Given the description of an element on the screen output the (x, y) to click on. 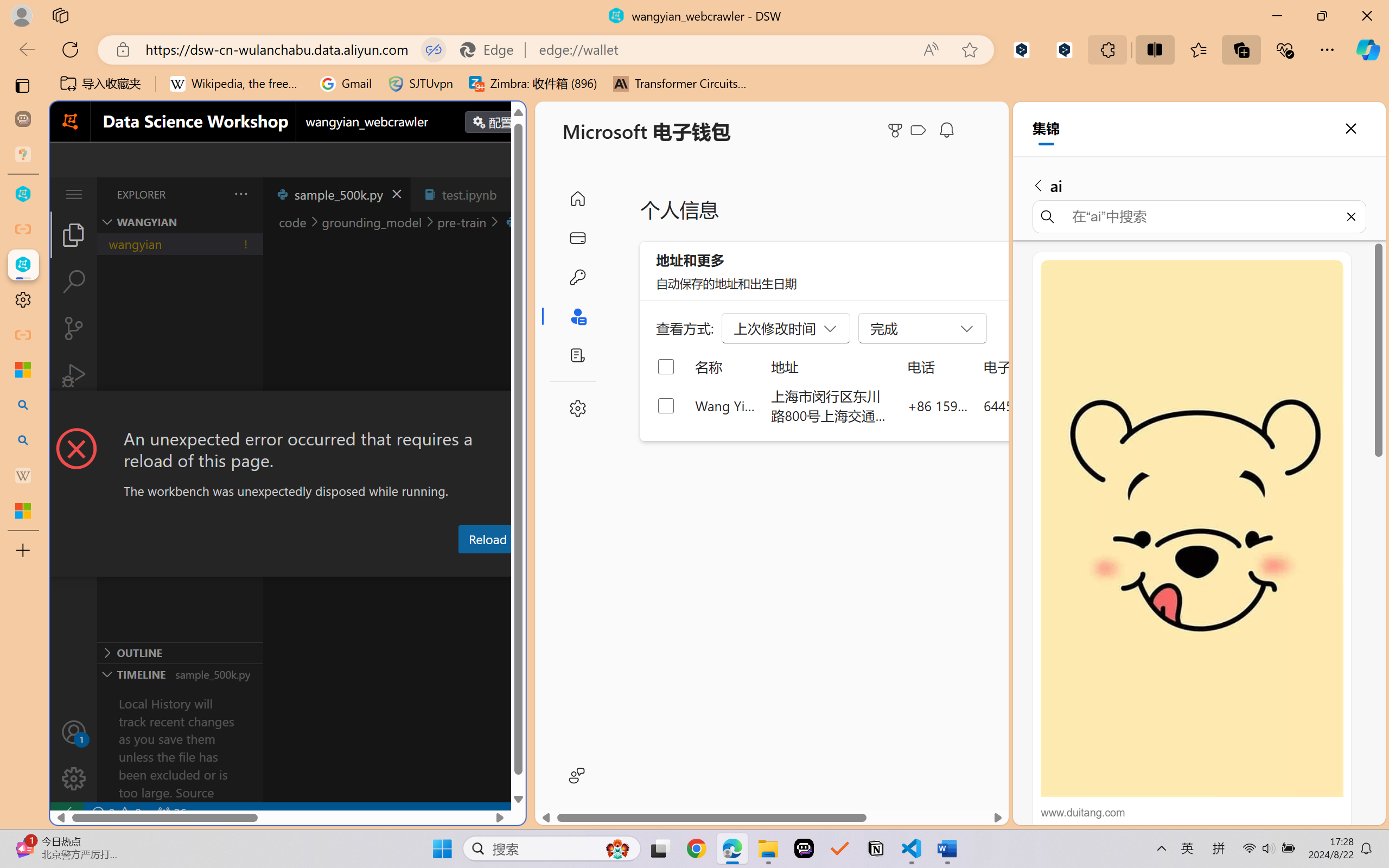
Application Menu (73, 194)
Class: menubar compact overflow-menu-only (73, 194)
Run and Debug (Ctrl+Shift+D) (73, 375)
Accounts - Sign in requested (73, 732)
Extensions (Ctrl+Shift+X) (73, 422)
Microsoft security help and learning (22, 369)
